Given the description of an element on the screen output the (x, y) to click on. 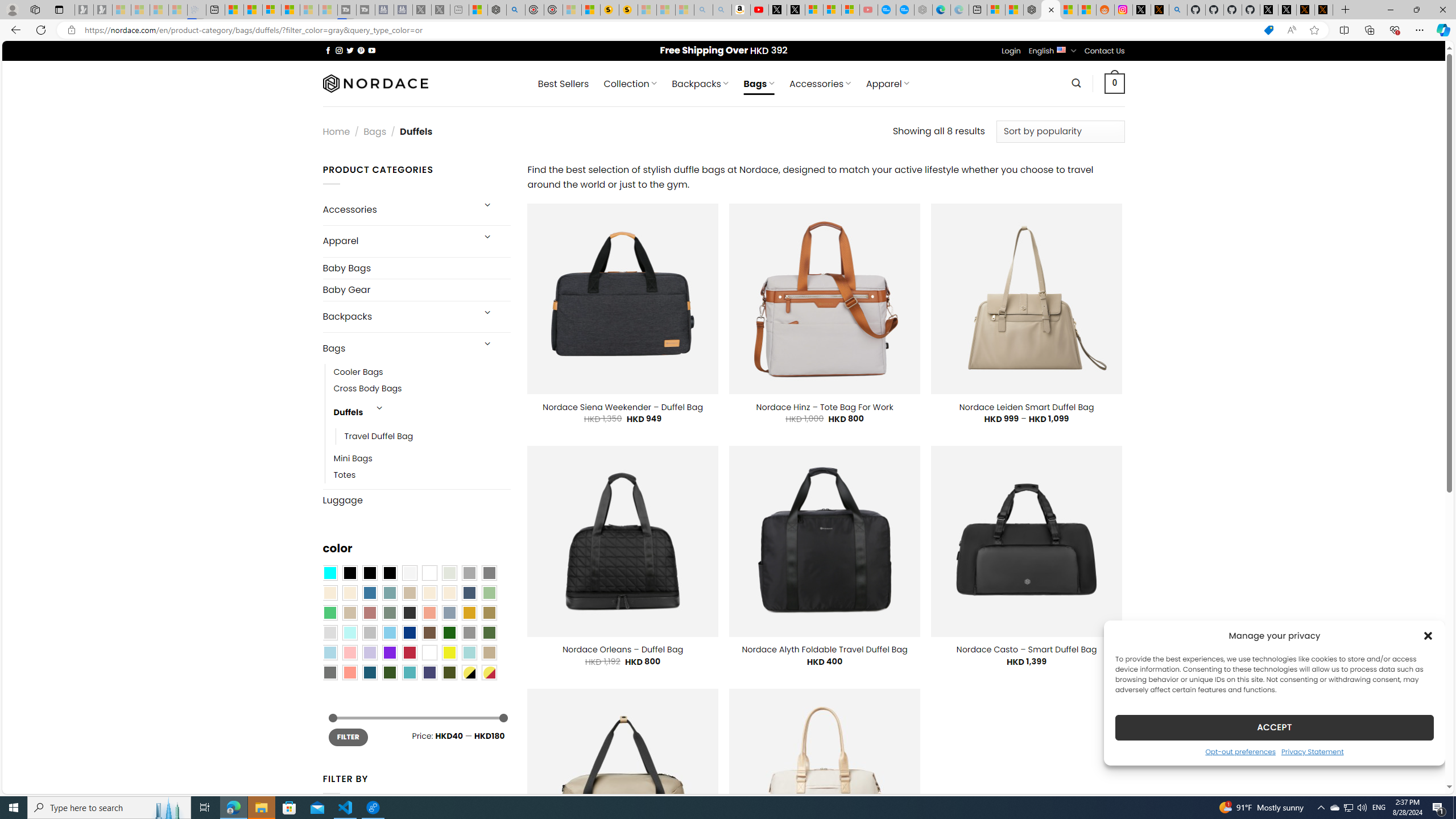
Light Green (488, 592)
Follow on Twitter (349, 49)
Emerald Green (329, 613)
Blue (369, 592)
Dull Nickle (329, 672)
Light Gray (329, 632)
Yellow (449, 652)
Contact Us (1104, 50)
